Given the description of an element on the screen output the (x, y) to click on. 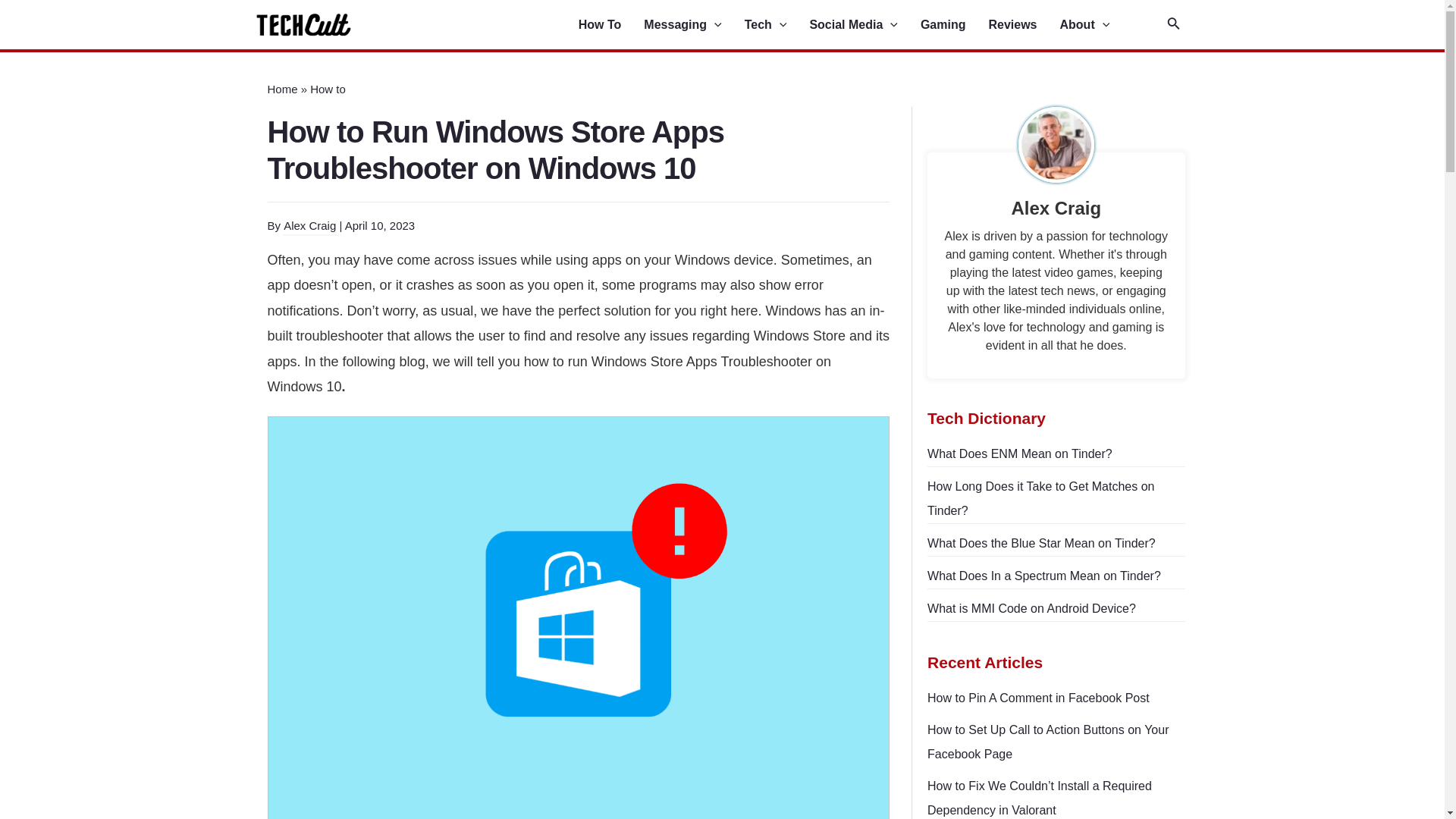
View all posts by Alex Craig (311, 226)
Home (281, 88)
Gaming (954, 25)
How To (611, 25)
Social Media (864, 25)
About (1095, 25)
Messaging (693, 25)
Tech (776, 25)
Reviews (1023, 25)
